Given the description of an element on the screen output the (x, y) to click on. 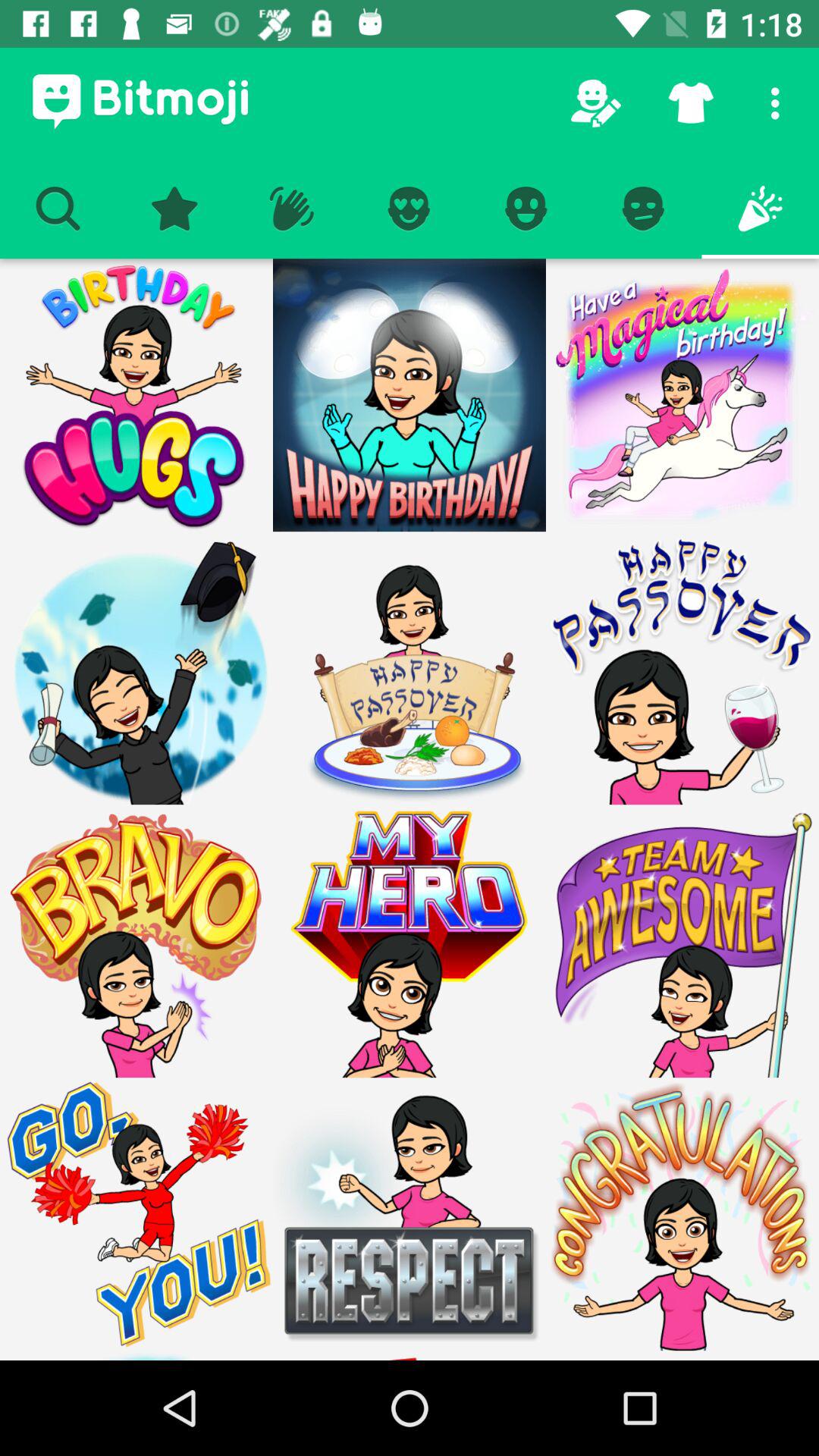
select multiple picture symbol (136, 1213)
